Given the description of an element on the screen output the (x, y) to click on. 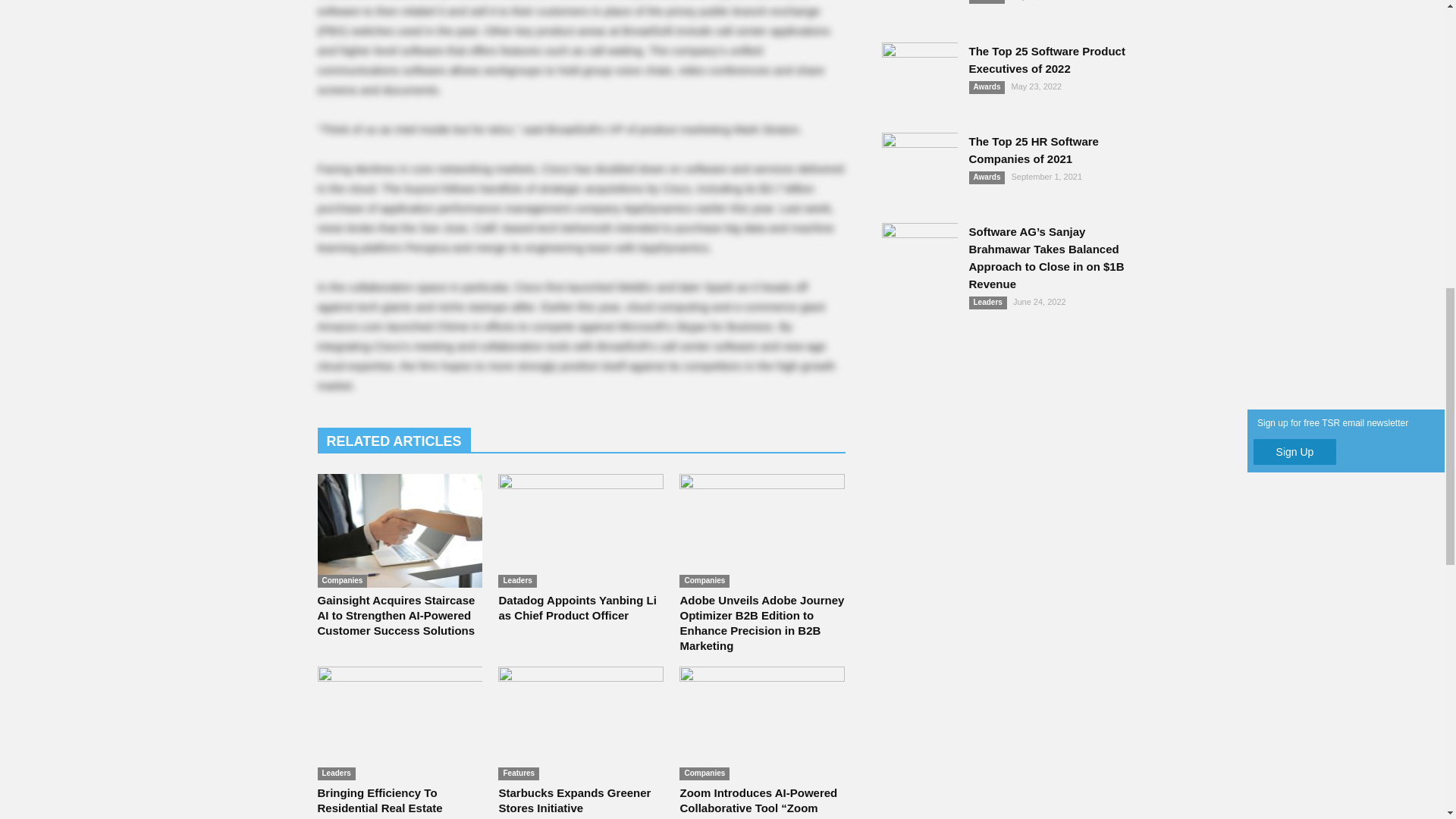
Datadog Appoints Yanbing Li as Chief Product Officer (576, 607)
Starbucks Expands Greener Stores Initiative (580, 723)
Datadog Appoints Yanbing Li as Chief Product Officer (580, 531)
